Given the description of an element on the screen output the (x, y) to click on. 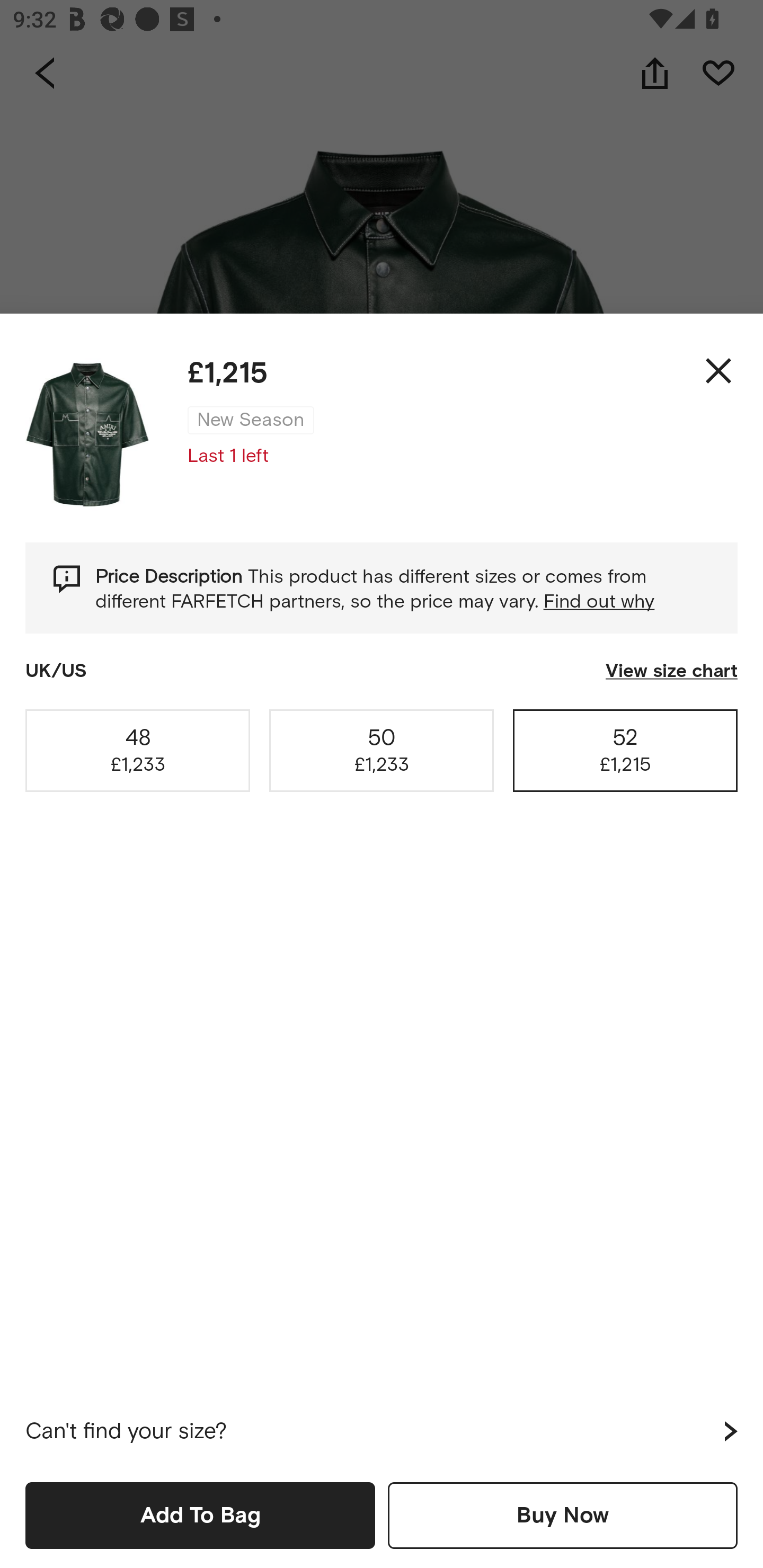
48 £1,233 (137, 749)
50 £1,233 (381, 749)
52 £1,215 (624, 749)
Can't find your size? (381, 1431)
Add To Bag (200, 1515)
Buy Now (562, 1515)
